Given the description of an element on the screen output the (x, y) to click on. 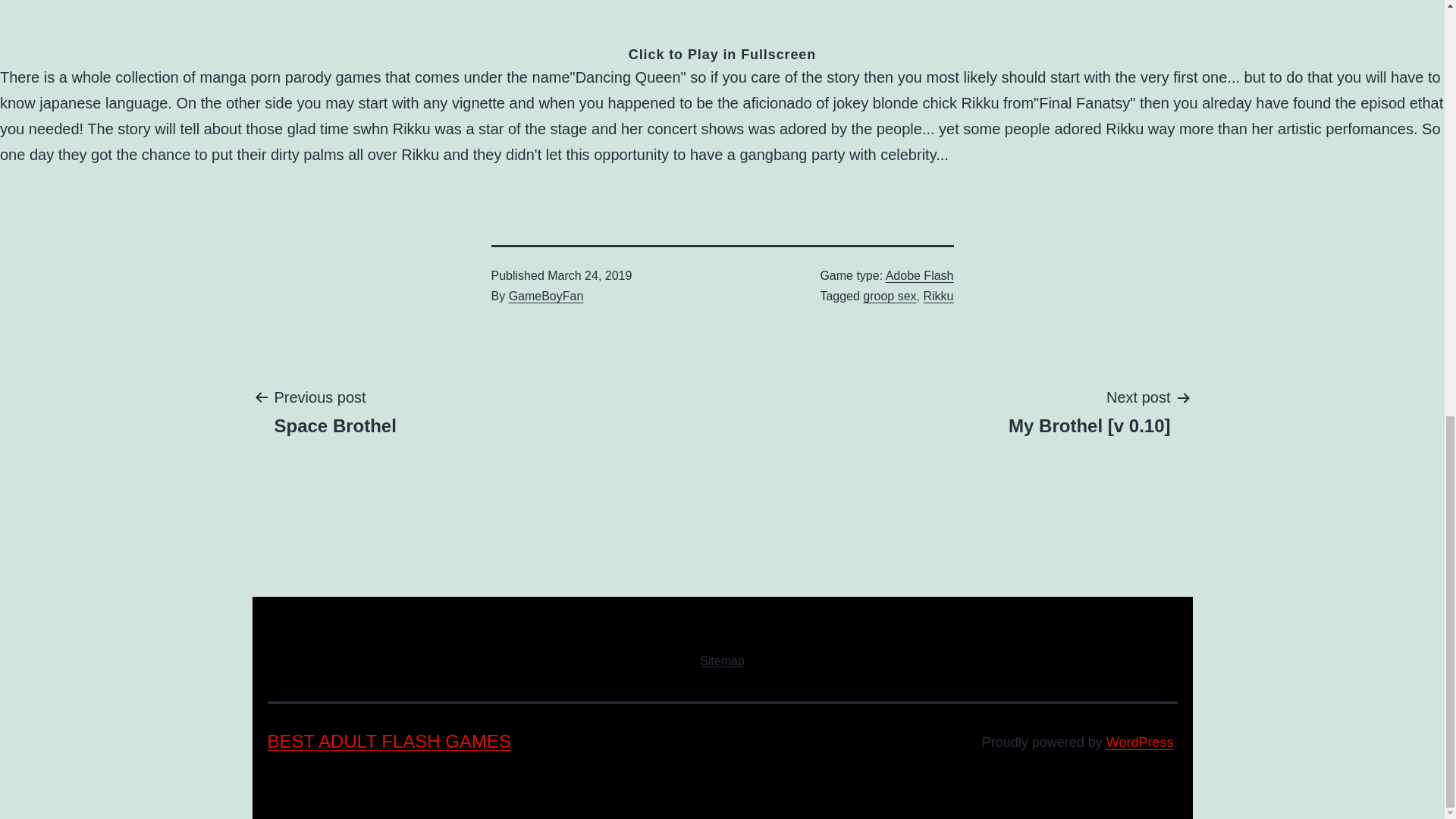
Rikku (938, 295)
WordPress (1139, 742)
BEST ADULT FLASH GAMES (388, 741)
GameBoyFan (545, 295)
groop sex (334, 410)
Adobe Flash (889, 295)
Sitemap (919, 275)
